Given the description of an element on the screen output the (x, y) to click on. 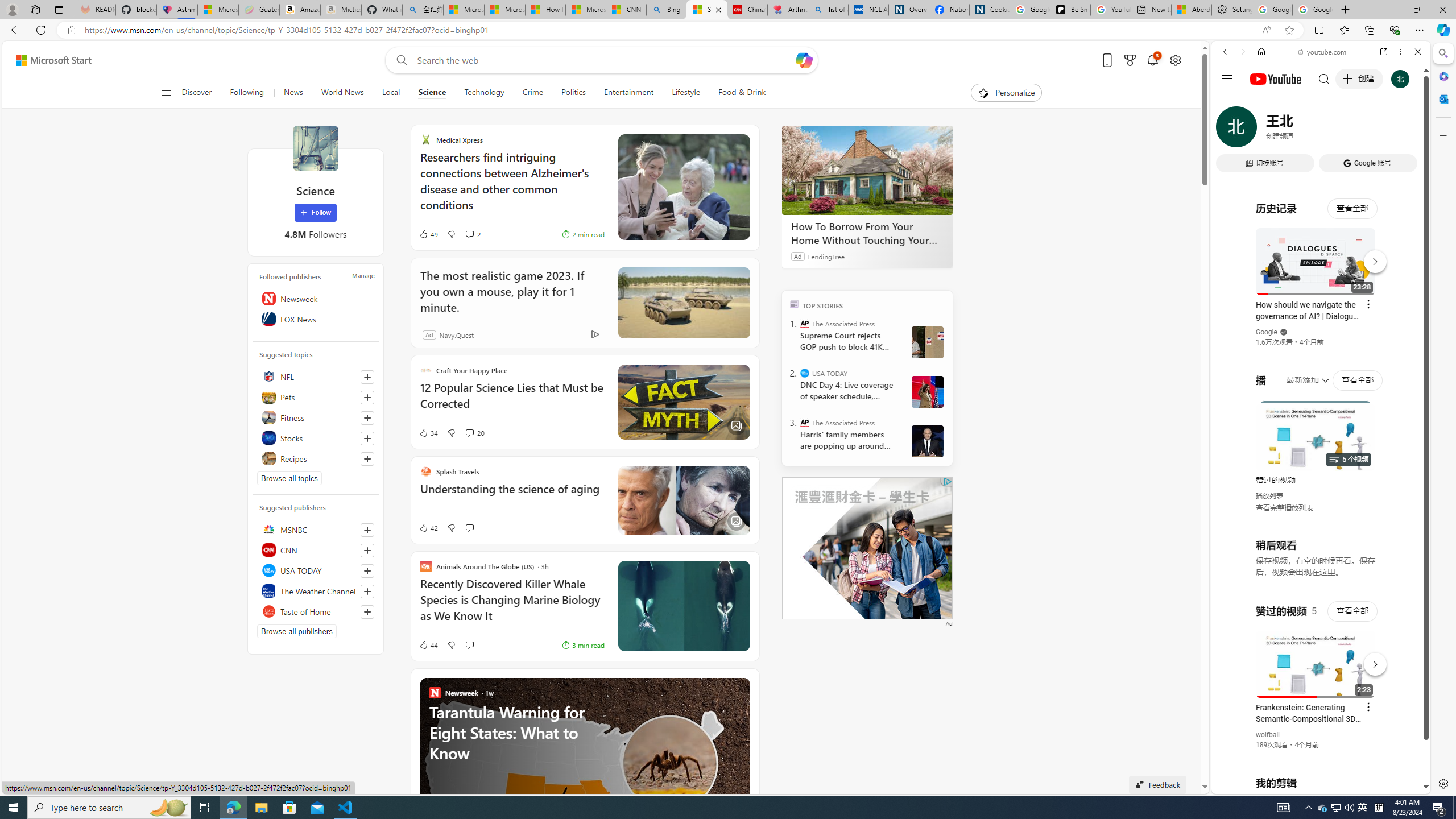
Open settings (1175, 60)
Enter your search term (603, 59)
Follow this topic (367, 459)
Technology (483, 92)
SEARCH TOOLS (1350, 130)
Search (1442, 53)
USA TODAY (315, 570)
Stocks (315, 437)
Microsoft-Report a Concern to Bing (217, 9)
Search Filter, Search Tools (1350, 129)
